Given the description of an element on the screen output the (x, y) to click on. 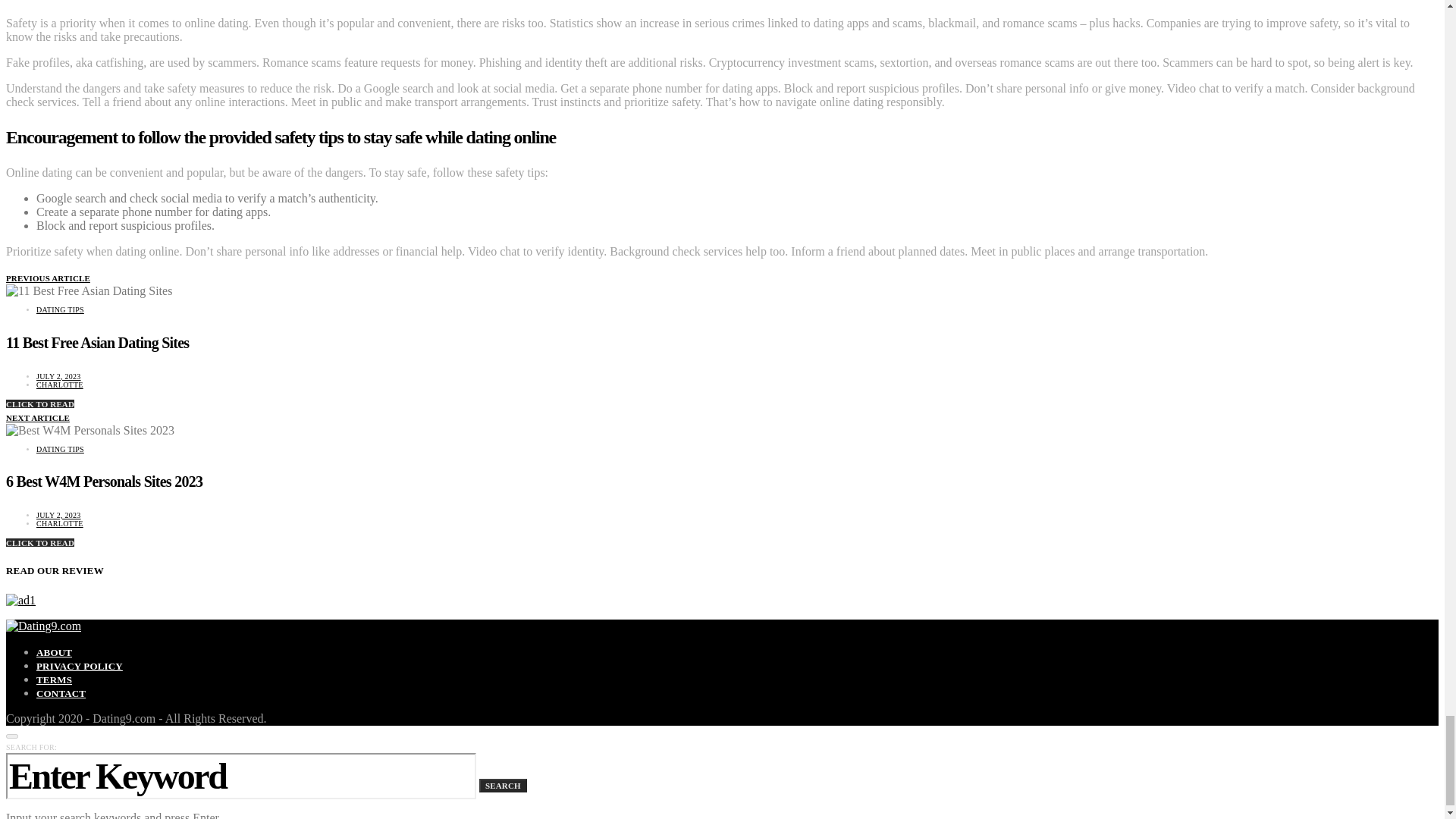
NEXT ARTICLE (37, 417)
CLICK TO READ (39, 542)
CLICK TO READ (39, 403)
PREVIOUS ARTICLE (47, 277)
DATING TIPS (60, 309)
DATING TIPS (60, 449)
View all posts by Charlotte (59, 523)
JULY 2, 2023 (58, 515)
CHARLOTTE (59, 384)
CHARLOTTE (59, 523)
JULY 2, 2023 (58, 376)
View all posts by Charlotte (59, 384)
